Given the description of an element on the screen output the (x, y) to click on. 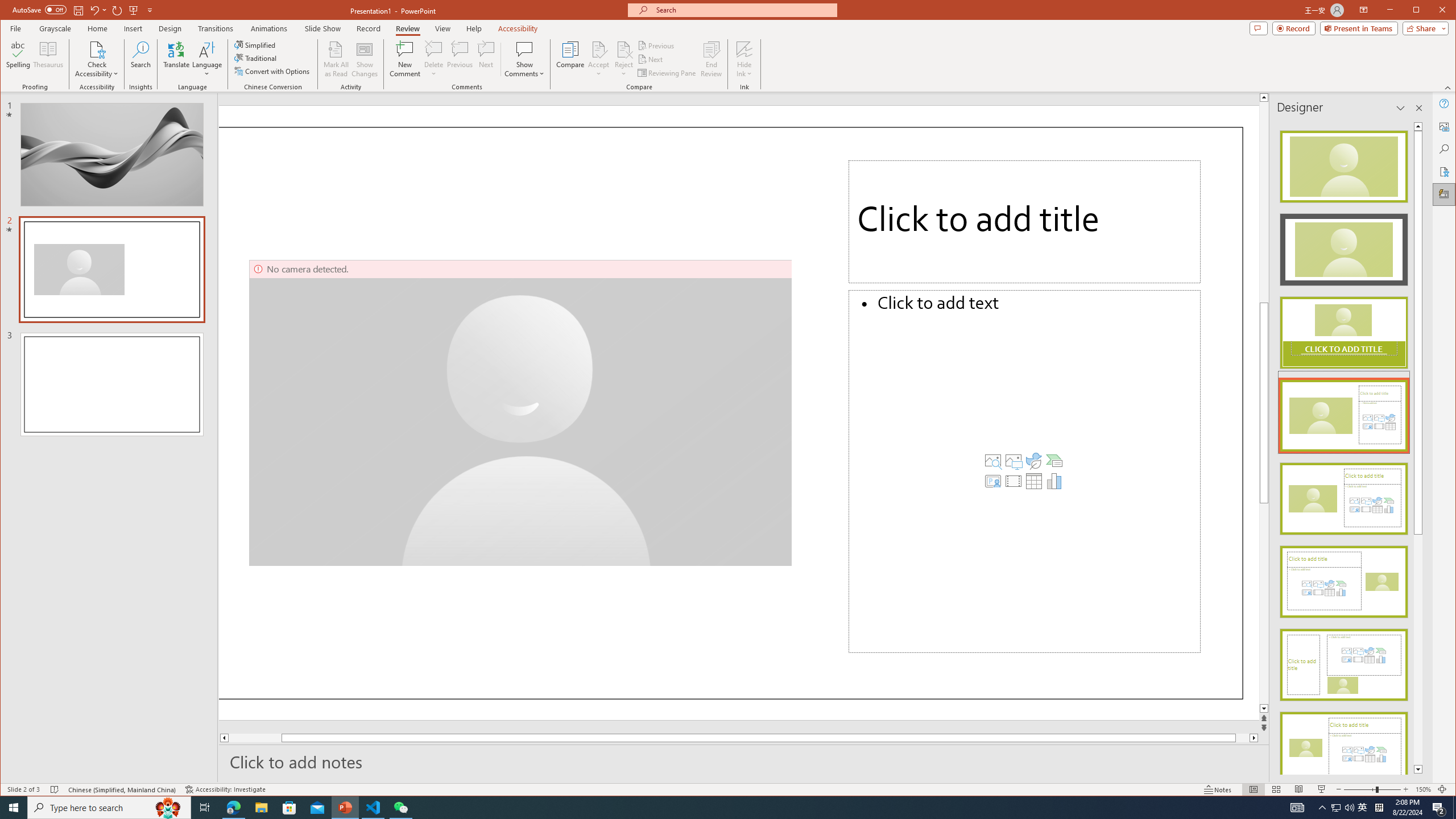
Reject (623, 59)
Camera 4, No camera detected. (520, 412)
Insert Table (1033, 480)
